Given the description of an element on the screen output the (x, y) to click on. 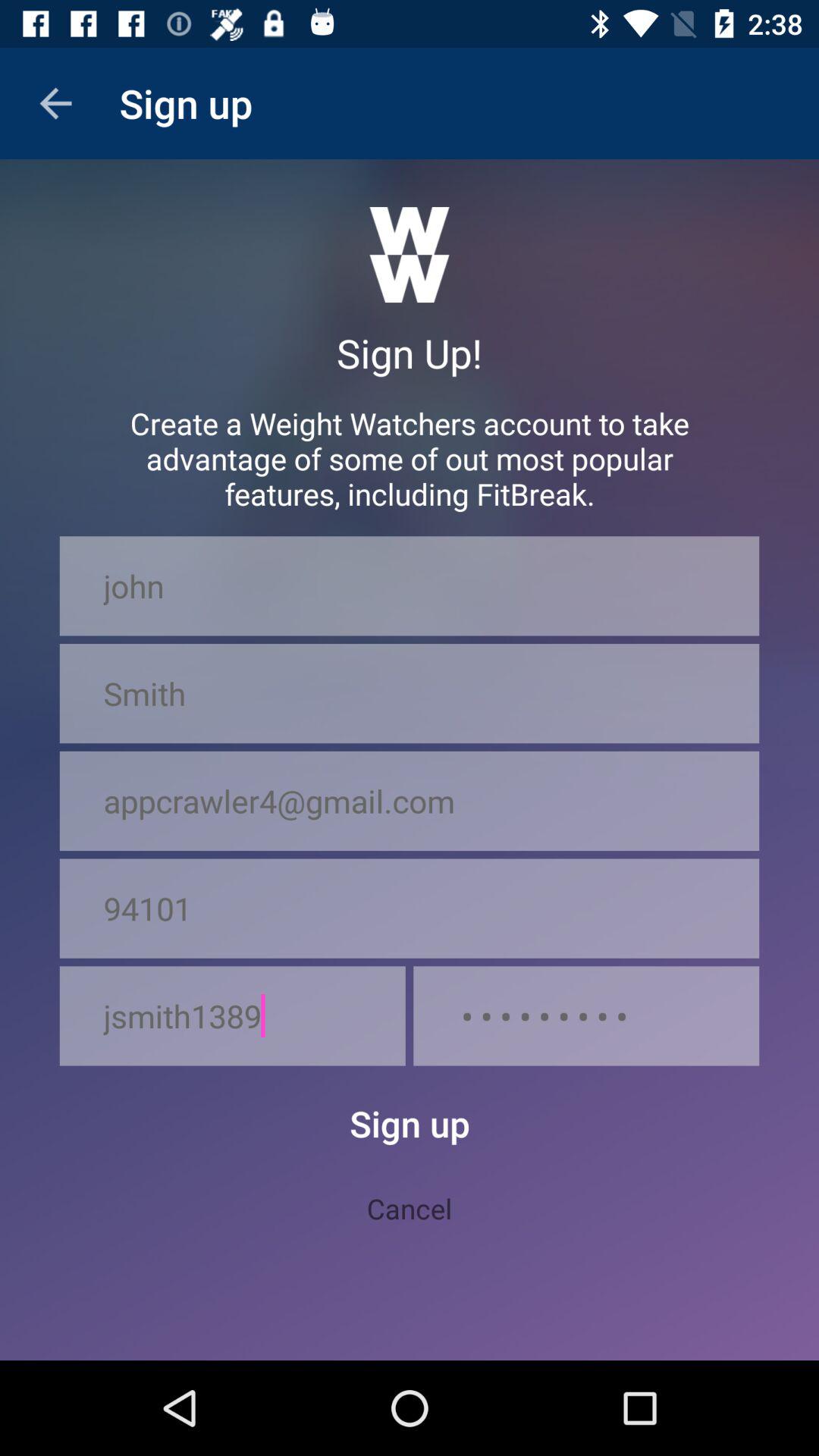
scroll to cancel item (409, 1208)
